Given the description of an element on the screen output the (x, y) to click on. 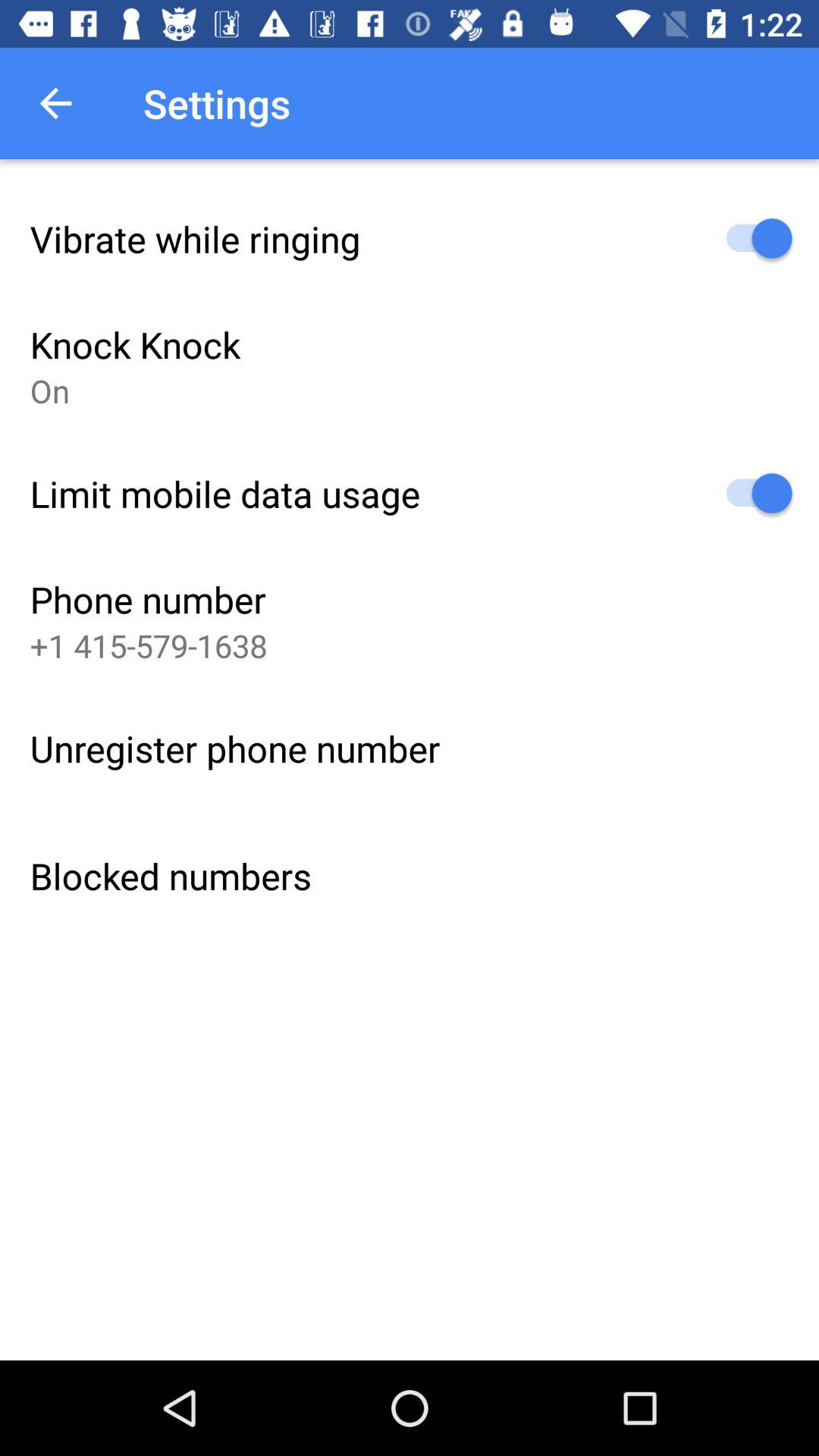
launch the icon to the left of settings item (55, 103)
